Given the description of an element on the screen output the (x, y) to click on. 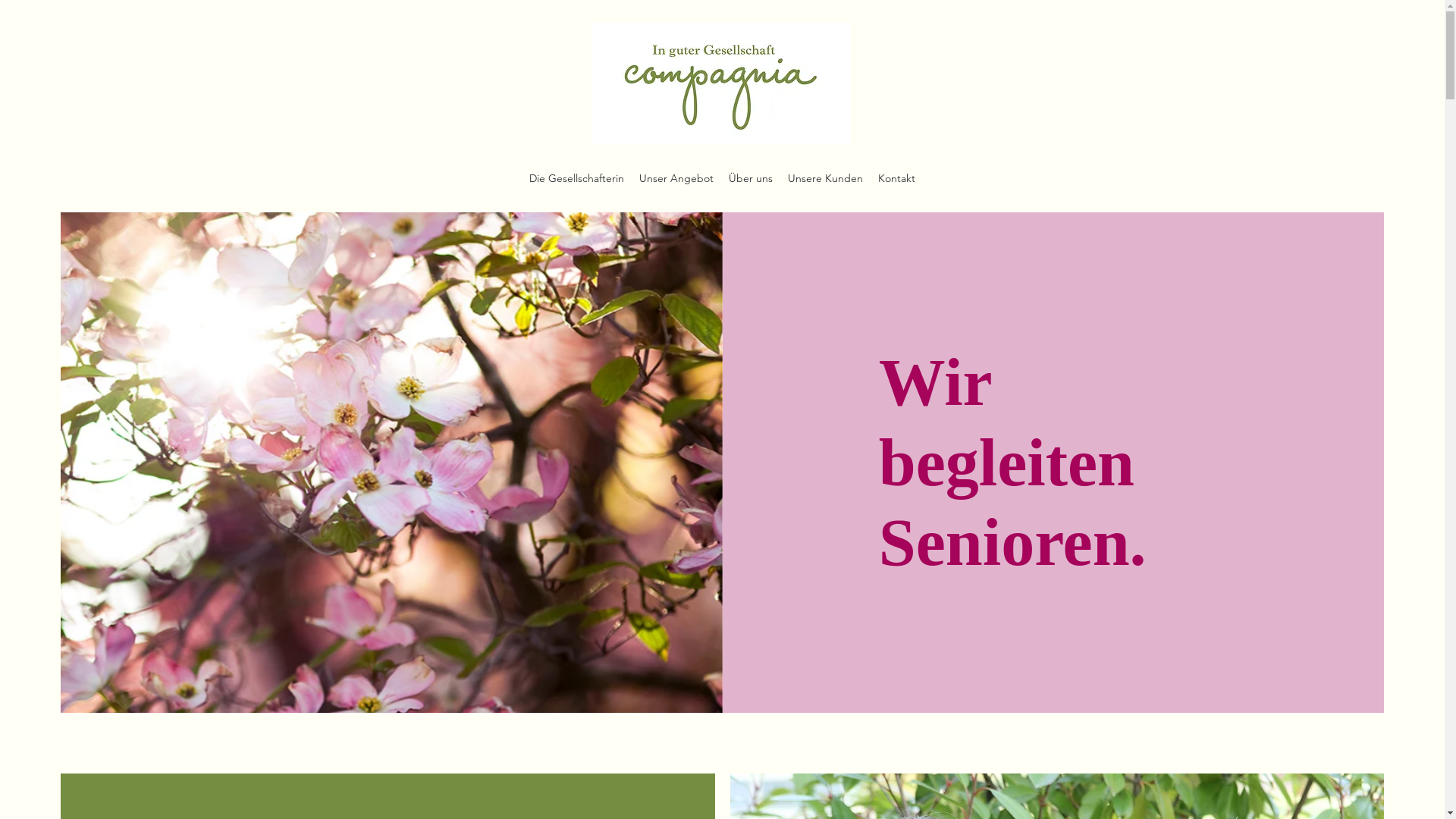
Kontakt Element type: text (896, 177)
